Given the description of an element on the screen output the (x, y) to click on. 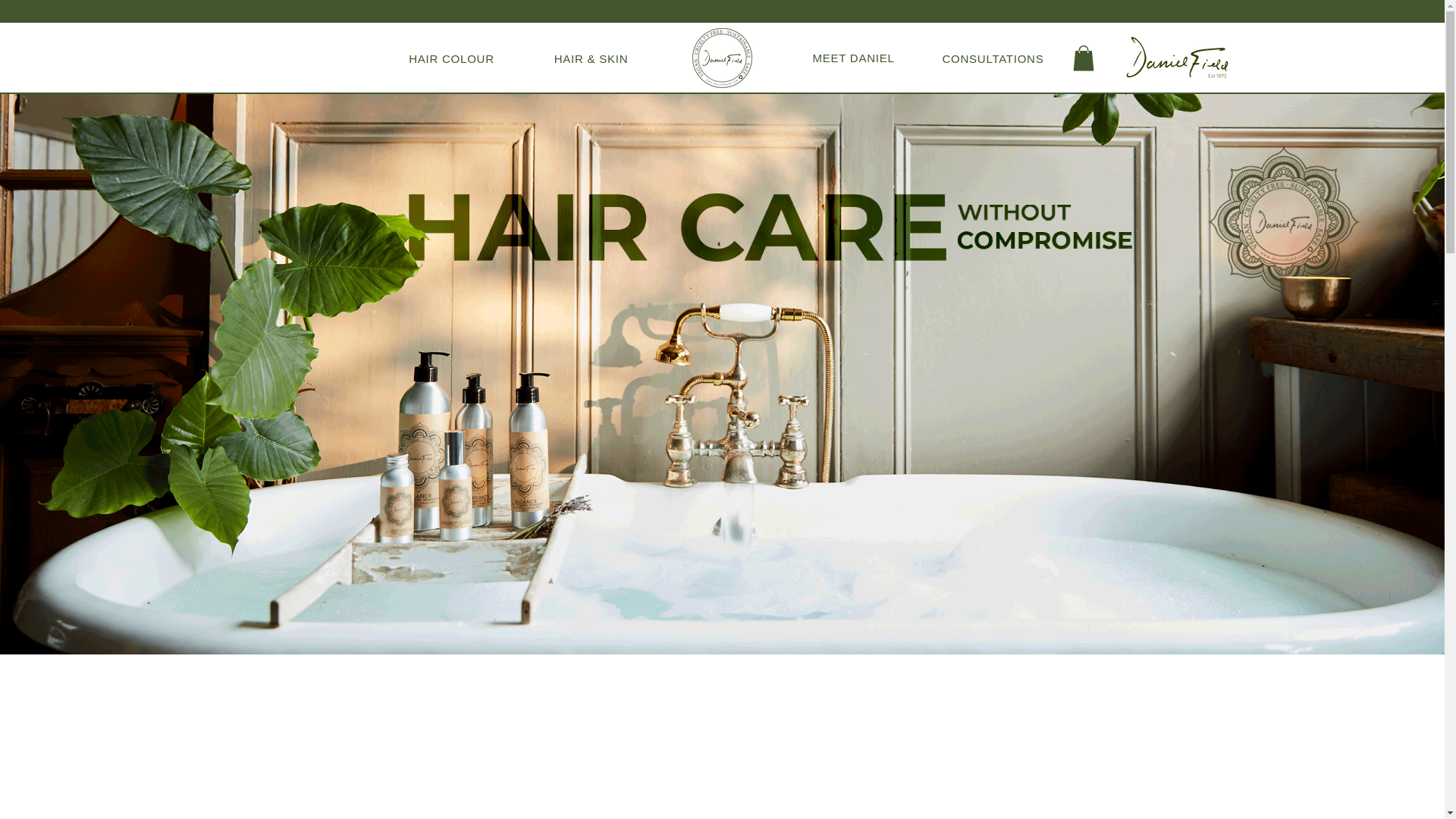
HAIR COLOUR (451, 58)
MEET DANIEL (853, 57)
CONSULTATIONS (992, 58)
